Given the description of an element on the screen output the (x, y) to click on. 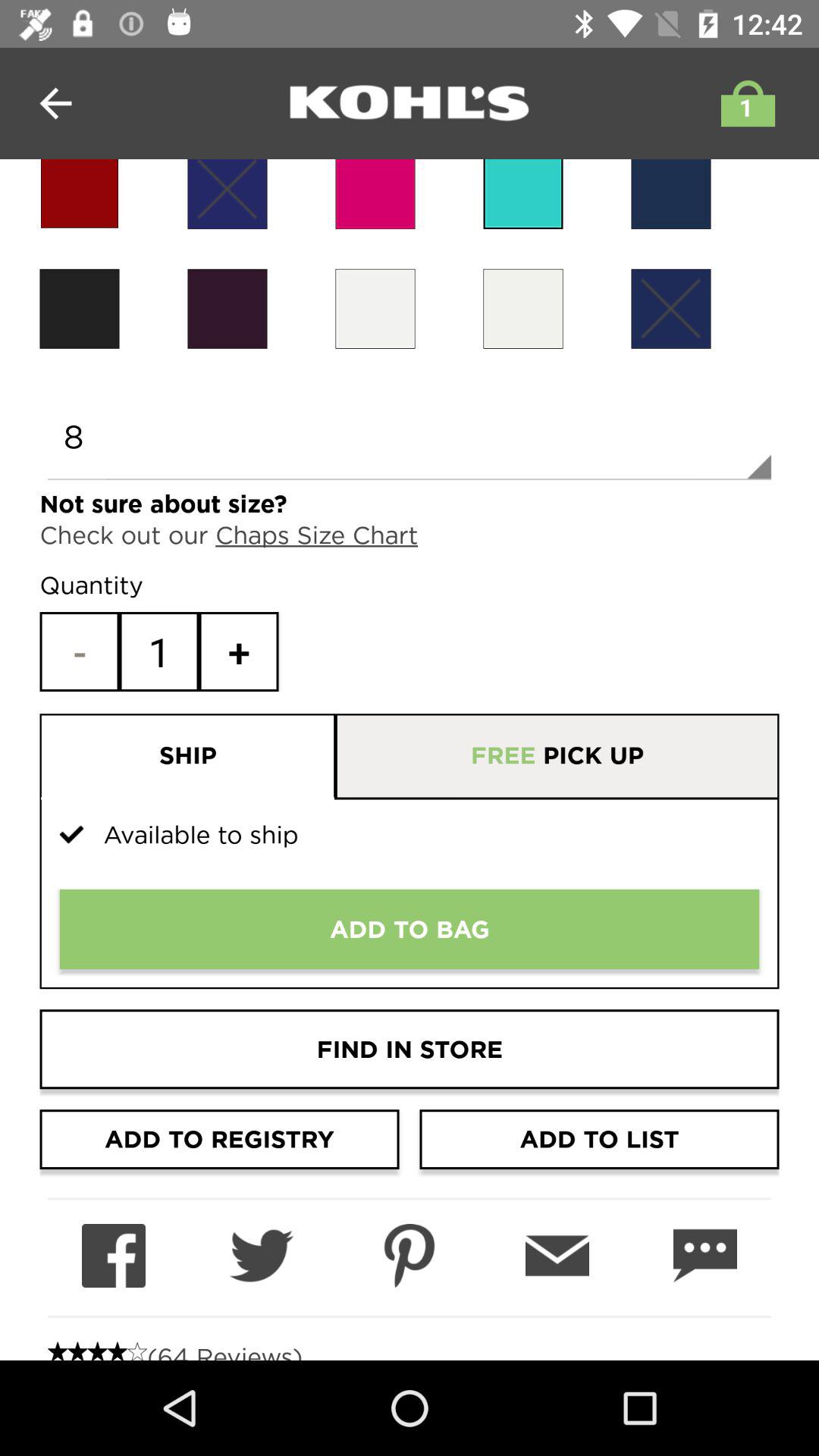
messaging or chat option (705, 1255)
